Given the description of an element on the screen output the (x, y) to click on. 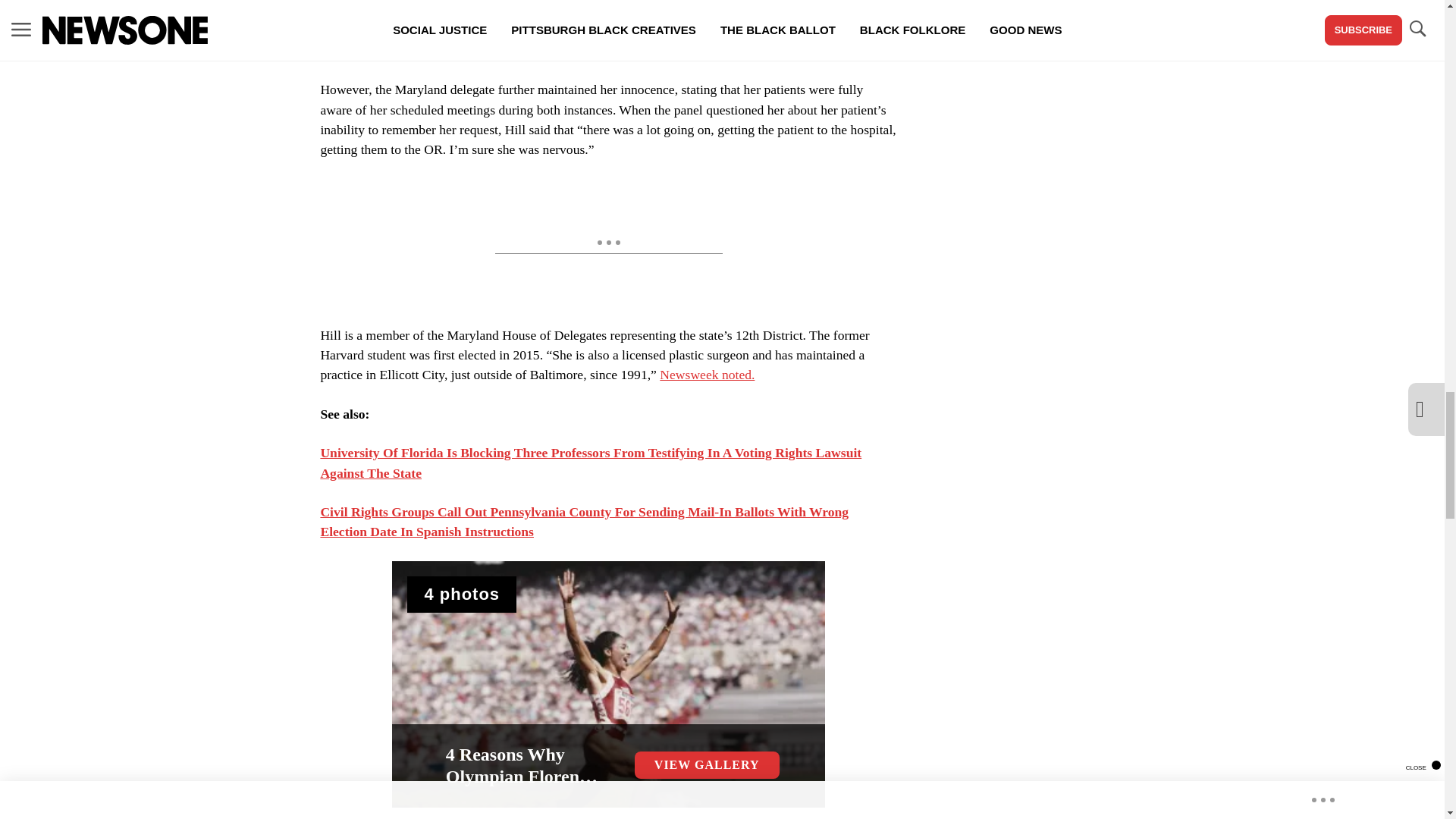
Media Playlist (461, 594)
Newsweek noted. (706, 374)
